Given the description of an element on the screen output the (x, y) to click on. 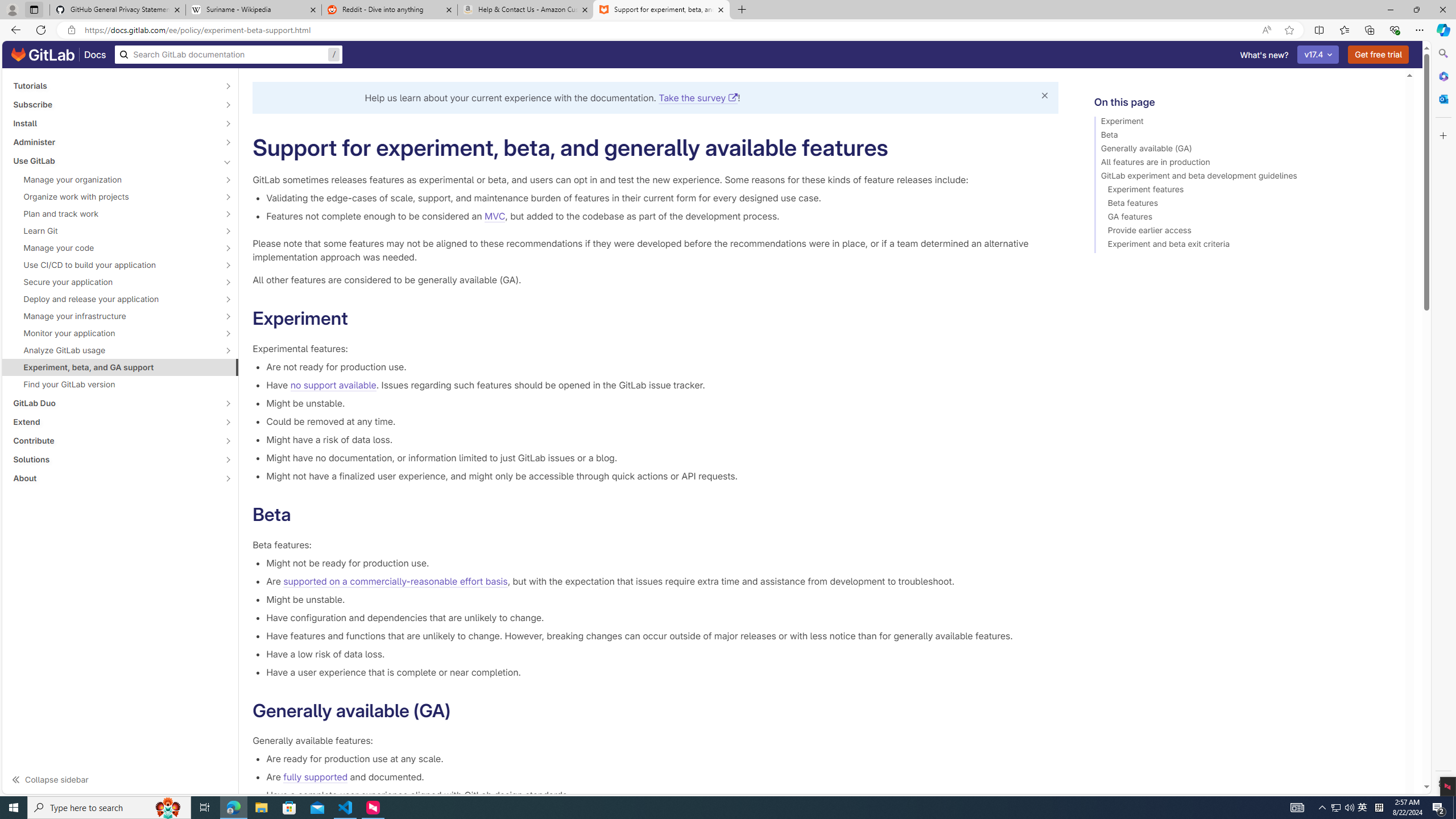
Extend (113, 421)
Manage your infrastructure (113, 316)
Manage your organization (113, 179)
Plan and track work (113, 213)
Might have a risk of data loss. (662, 439)
Experiment, beta, and GA support (120, 366)
Beta features (1244, 205)
Might not be ready for production use. (662, 562)
Are fully supported and documented. (662, 776)
v17.4 (1318, 54)
What's new? (1263, 54)
